Given the description of an element on the screen output the (x, y) to click on. 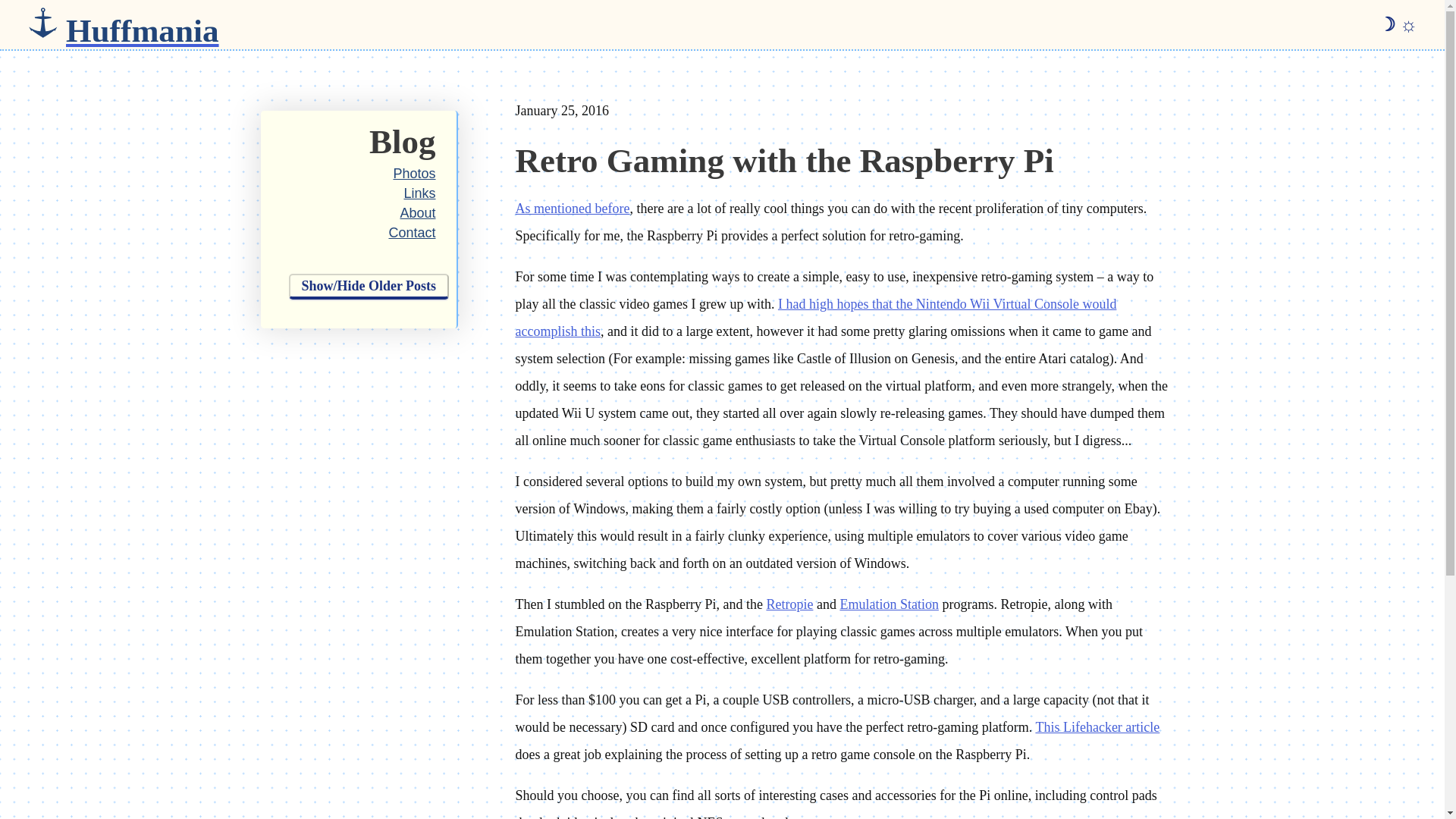
Links (419, 192)
Photos (414, 173)
Huffmania (142, 24)
About (416, 212)
Contact (411, 232)
Nintendo Wii possibilities (815, 317)
Retropie video game emulation collection for Raspberry Pi (788, 604)
Tiny Computers (572, 208)
